Given the description of an element on the screen output the (x, y) to click on. 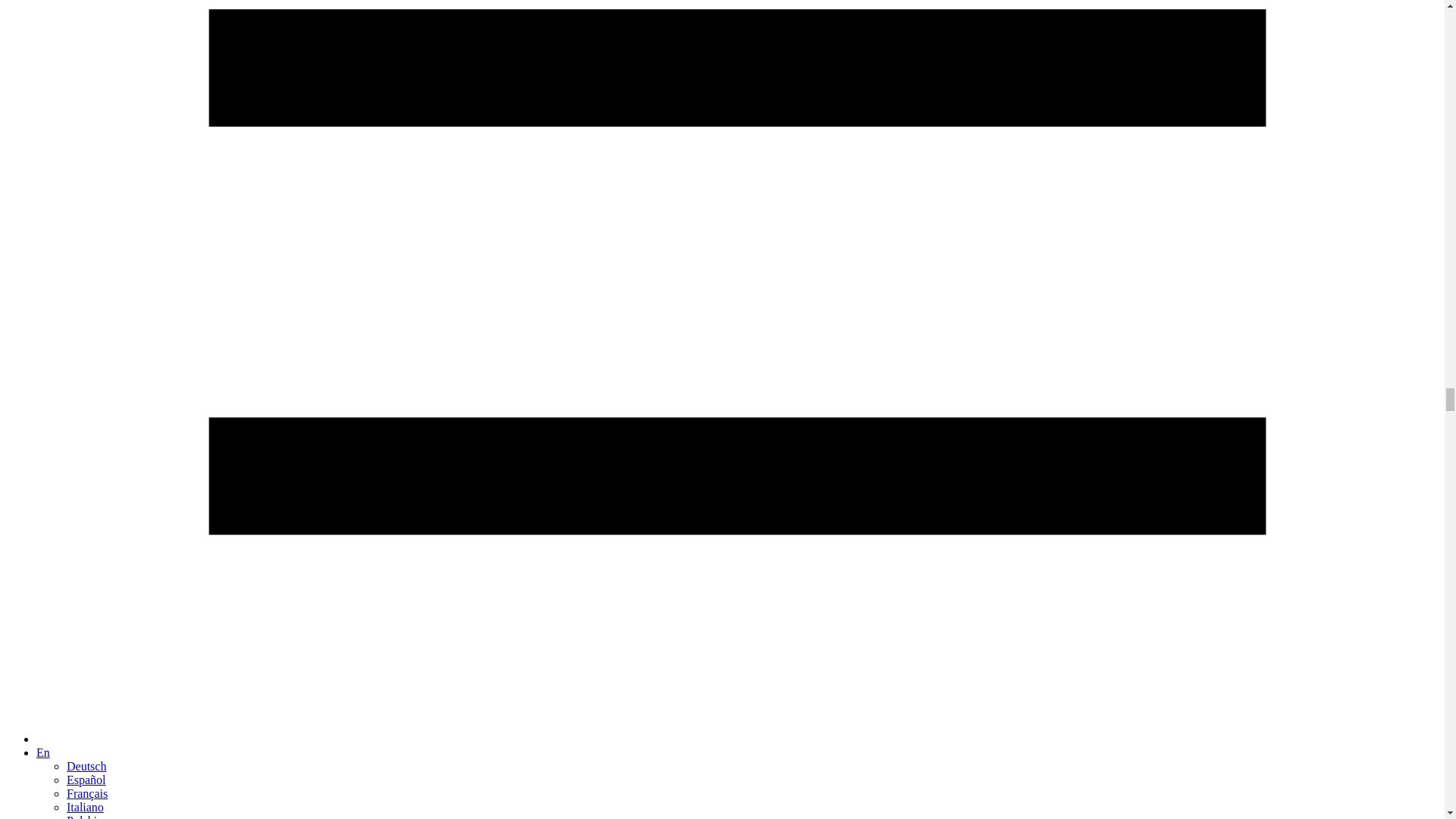
Deutsch (86, 766)
Polski (81, 816)
Italiano (84, 807)
En (42, 752)
